Given the description of an element on the screen output the (x, y) to click on. 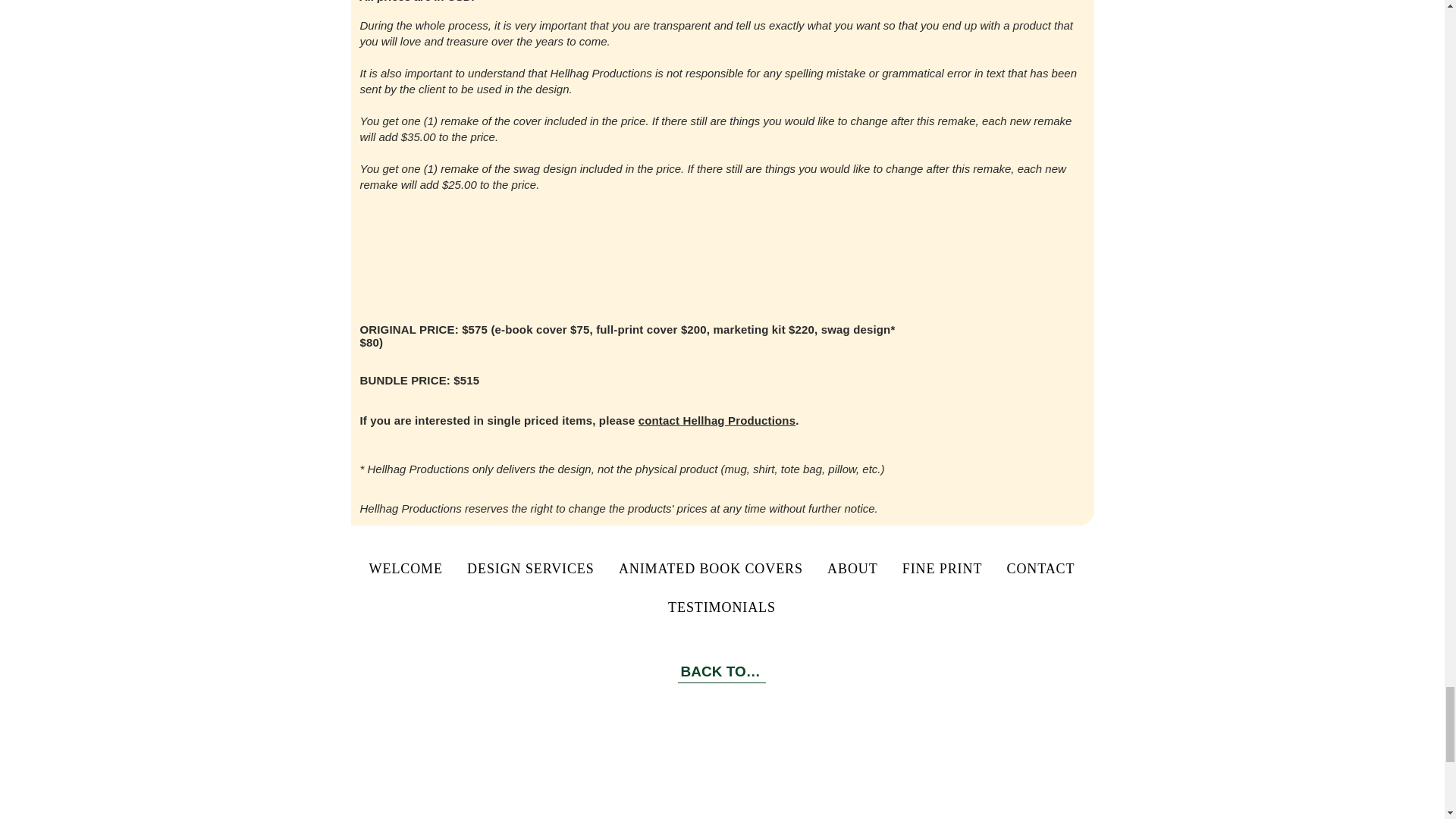
WELCOME (405, 568)
FINE PRINT (942, 568)
ABOUT (852, 568)
DESIGN SERVICES (531, 568)
TESTIMONIALS (721, 607)
ANIMATED BOOK COVERS (711, 568)
CONTACT (1040, 568)
contact Hellhag Productions (716, 420)
BACK TO TOP (721, 671)
